Given the description of an element on the screen output the (x, y) to click on. 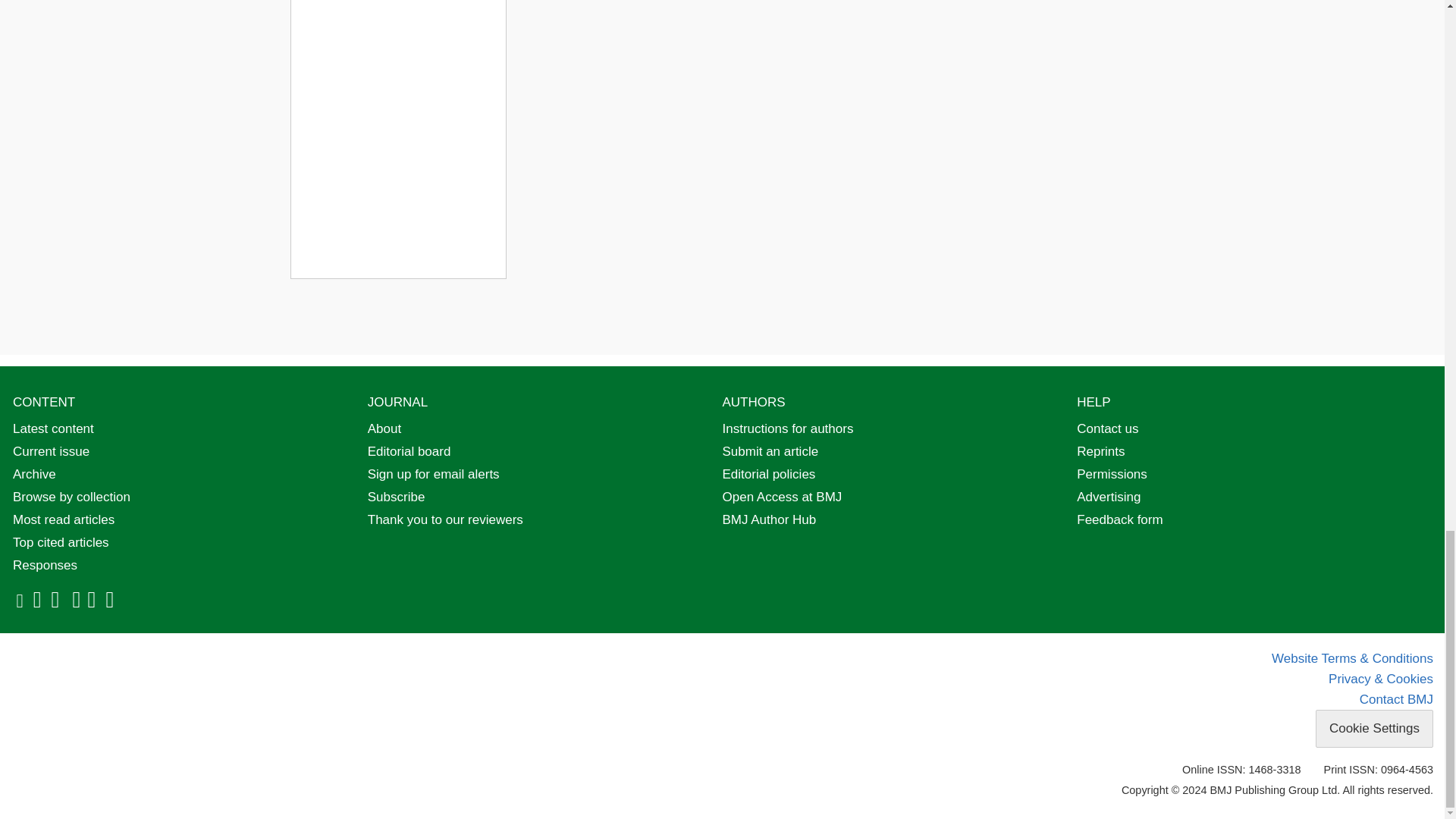
careers widget (397, 139)
